Given the description of an element on the screen output the (x, y) to click on. 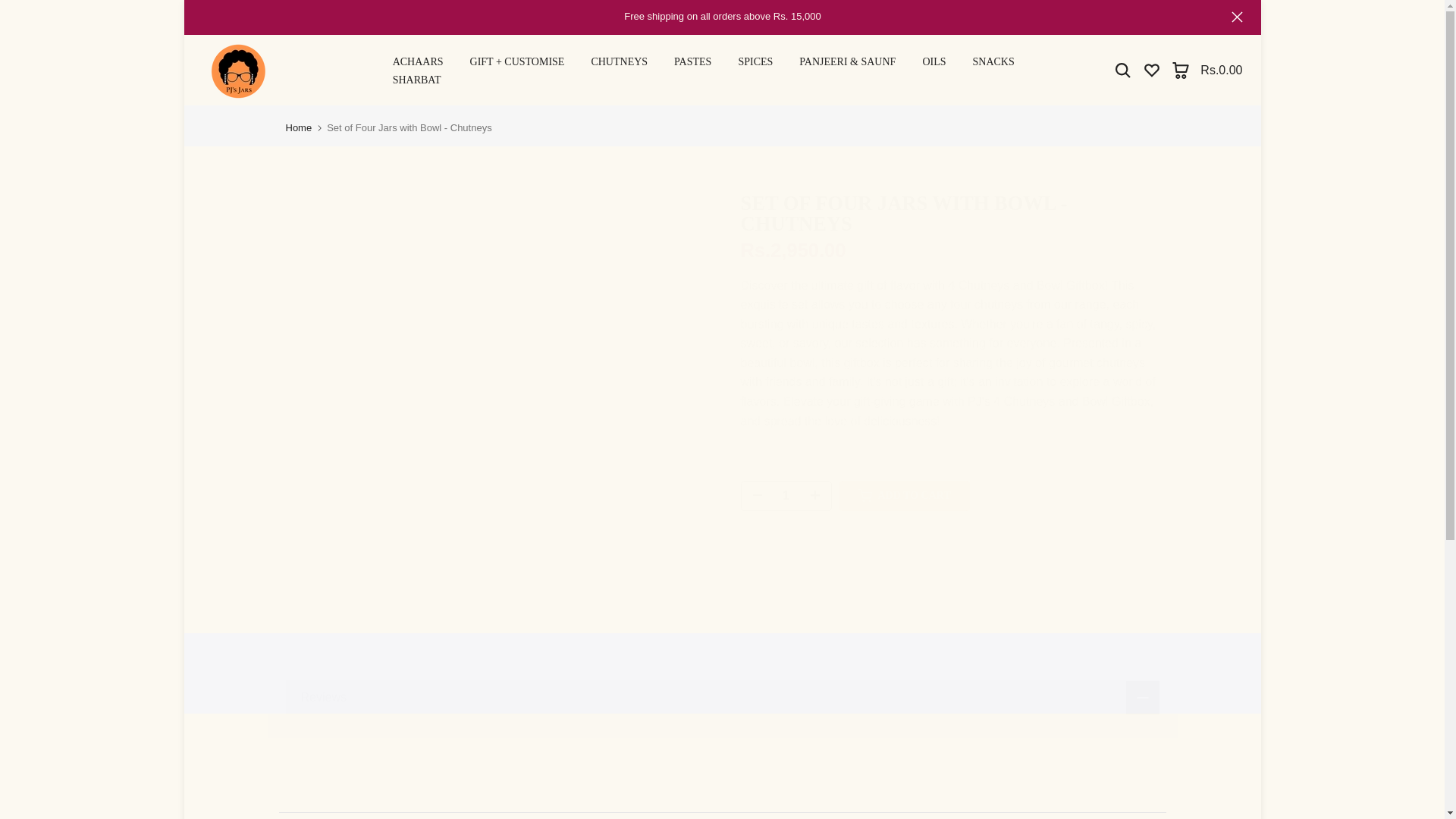
CHUTNEYS (619, 62)
SPICES (755, 62)
OILS (933, 62)
ADD TO CART (903, 495)
Reviews (721, 697)
SNACKS (993, 62)
Rs.0.00 (1206, 70)
Skip to content (10, 7)
ACHAARS (417, 62)
PASTES (693, 62)
